Given the description of an element on the screen output the (x, y) to click on. 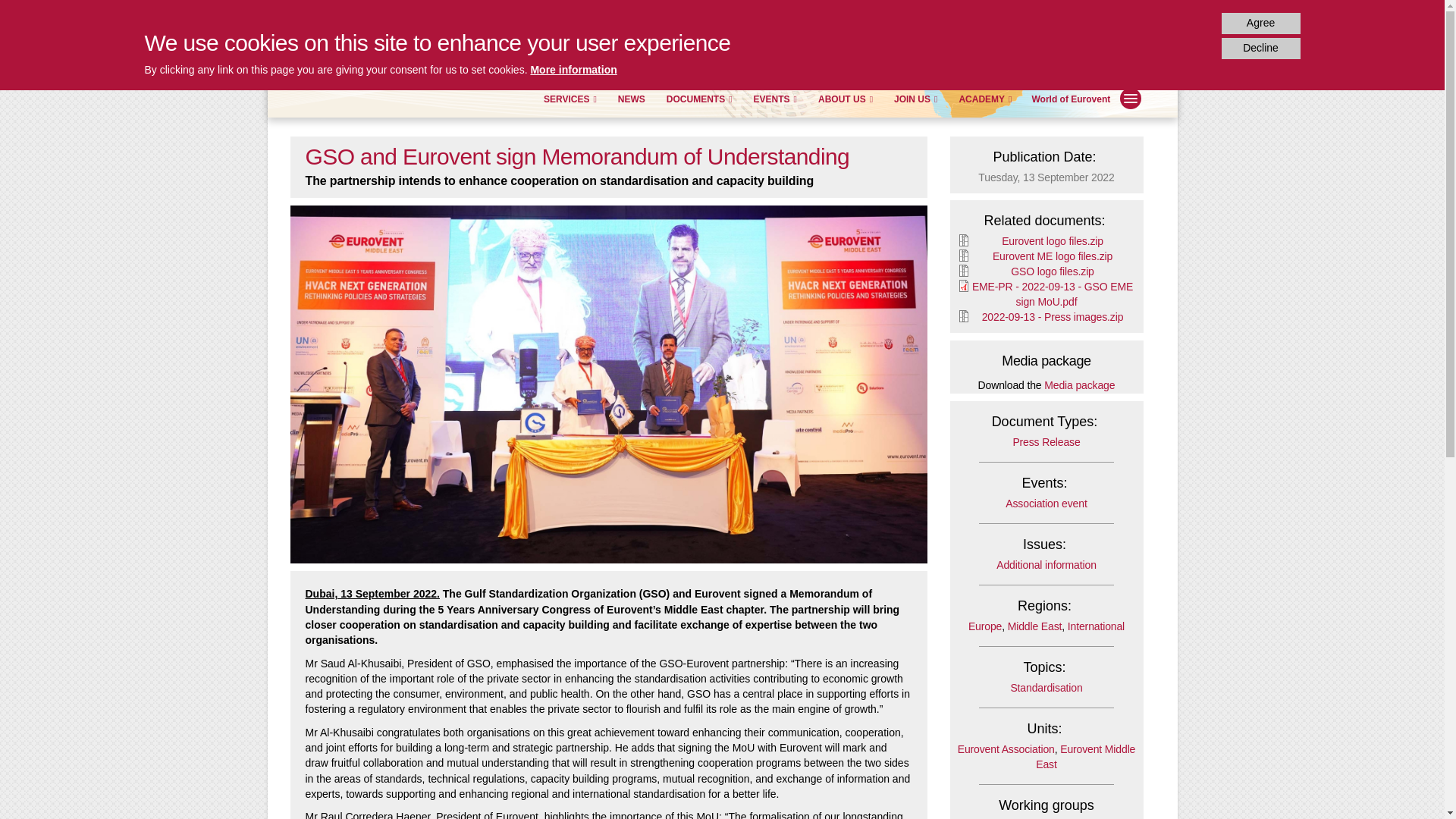
SERVICES (570, 99)
Decline (1260, 47)
EVENTS (775, 99)
World of Eurovent (1065, 100)
NEWS (631, 99)
Home (376, 51)
JOIN US (915, 99)
ABOUT US (845, 99)
More information (572, 69)
Agree (1260, 23)
DOCUMENTS (699, 99)
Search (1047, 57)
